Given the description of an element on the screen output the (x, y) to click on. 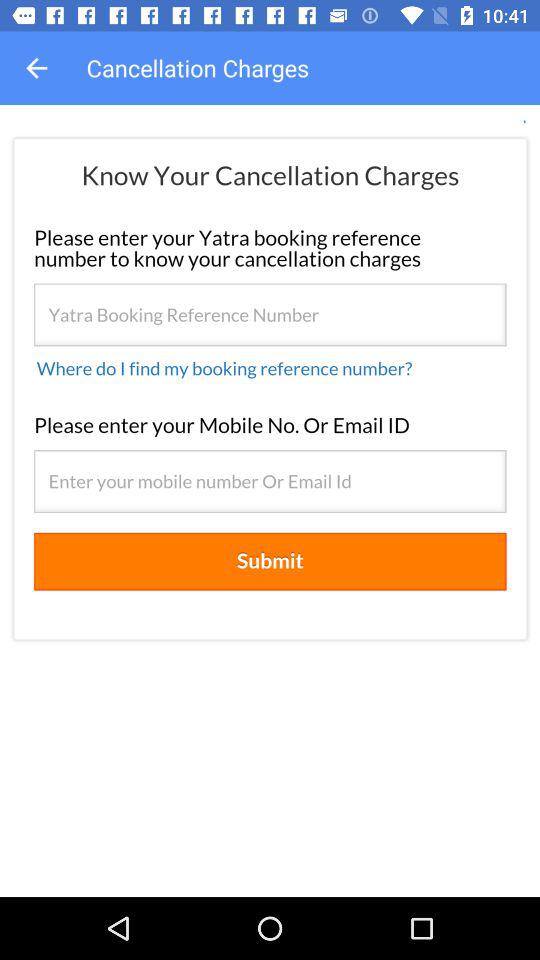
go back (36, 68)
